Given the description of an element on the screen output the (x, y) to click on. 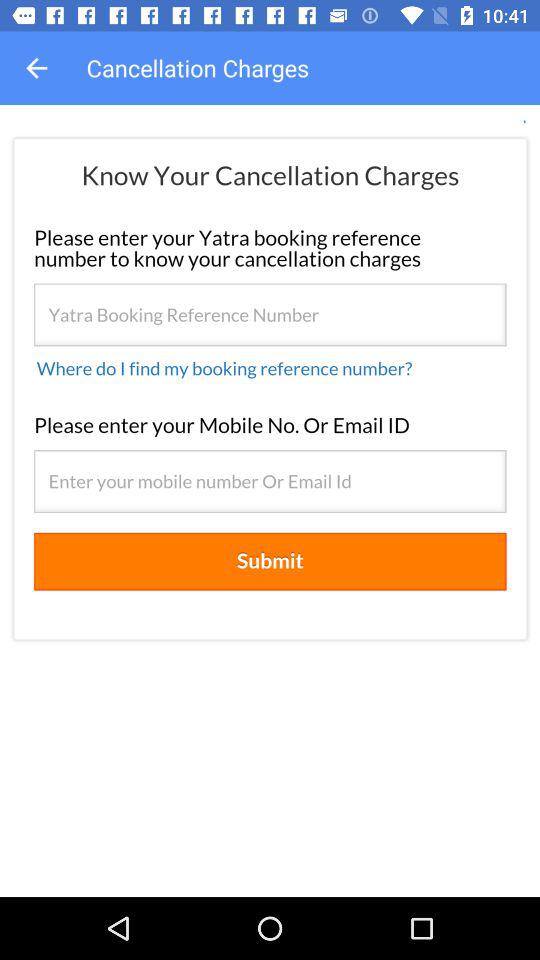
go back (36, 68)
